Given the description of an element on the screen output the (x, y) to click on. 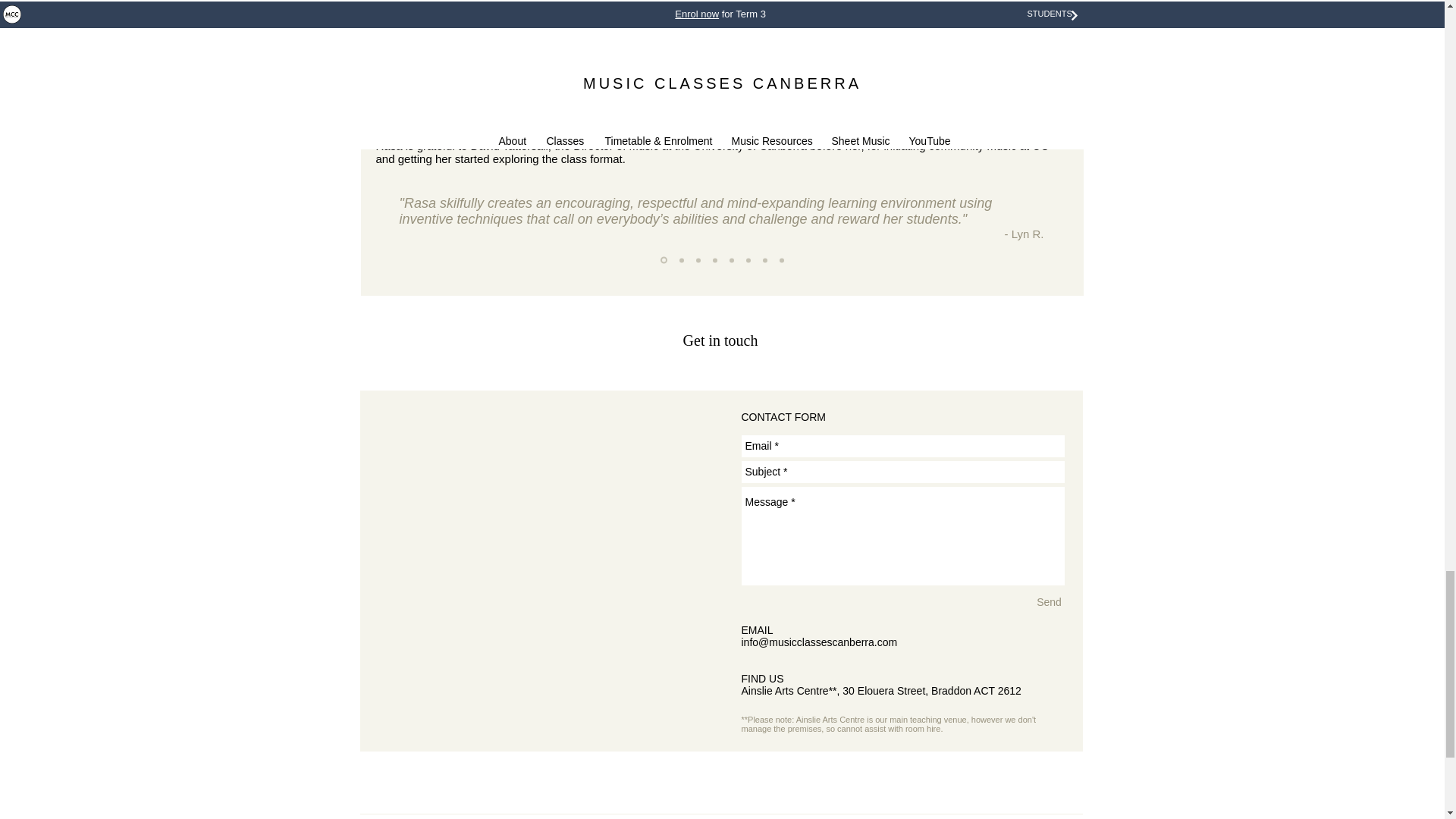
Send (1048, 602)
Rasa Daukus (926, 16)
